Given the description of an element on the screen output the (x, y) to click on. 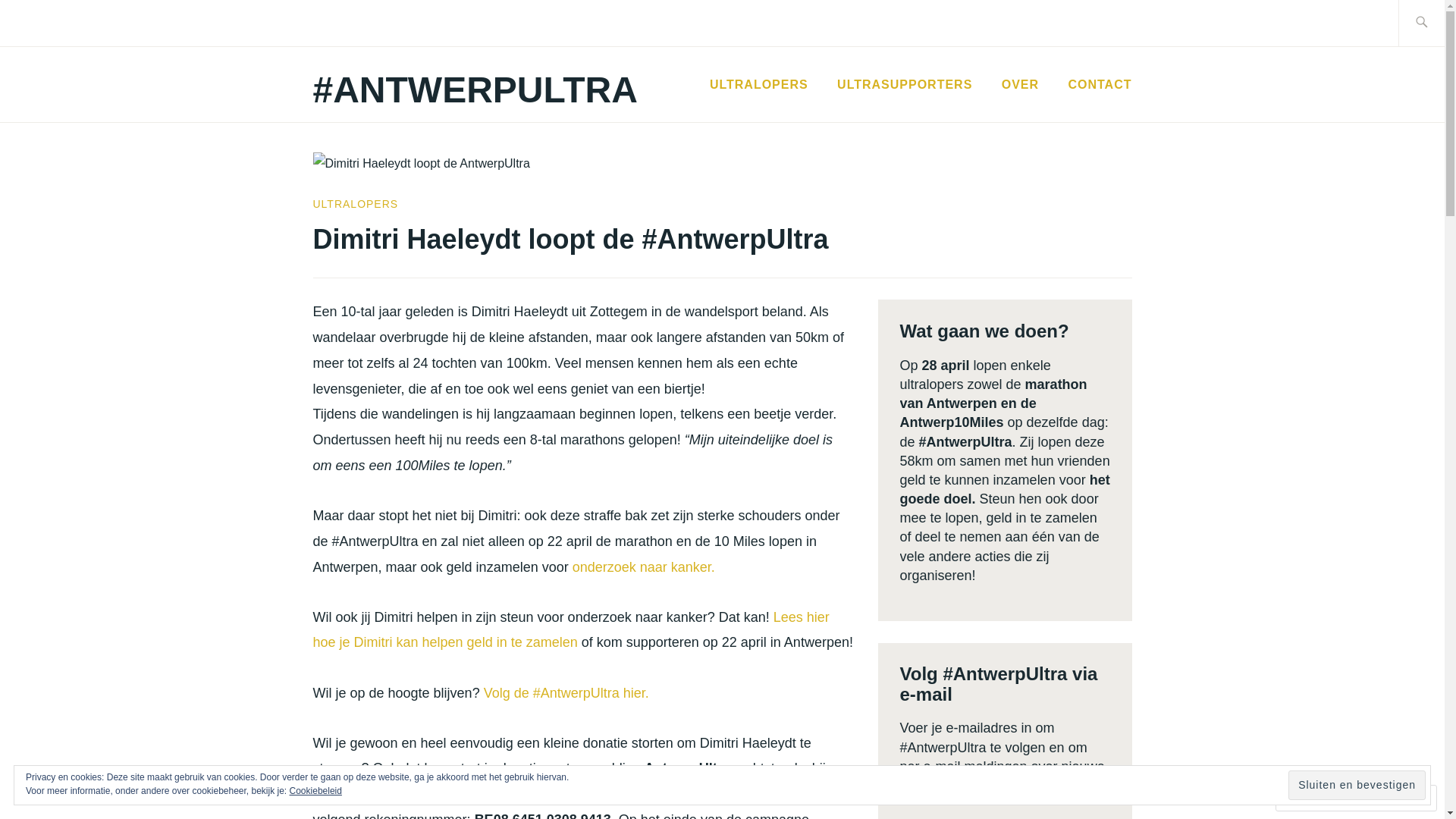
Cookiebeleid Element type: text (315, 790)
Zoeken Element type: text (47, 21)
Reactie Element type: text (1312, 797)
ULTRASUPPORTERS Element type: text (904, 84)
Hommes Forts Foundation Element type: text (412, 793)
OVER Element type: text (1019, 84)
ULTRALOPERS Element type: text (758, 84)
onderzoek naar kanker. Element type: text (643, 566)
Zoeken naar: Element type: hover (1438, 23)
CONTACT Element type: text (1099, 84)
Sluiten en bevestigen Element type: text (1356, 785)
ULTRALOPERS Element type: text (355, 203)
#ANTWERPULTRA Element type: text (474, 89)
Volg de #AntwerpUltra hier. Element type: text (566, 692)
Volg Element type: text (1377, 797)
Lees hier hoe je Dimitri kan helpen geld in te zamelen Element type: text (570, 629)
